Given the description of an element on the screen output the (x, y) to click on. 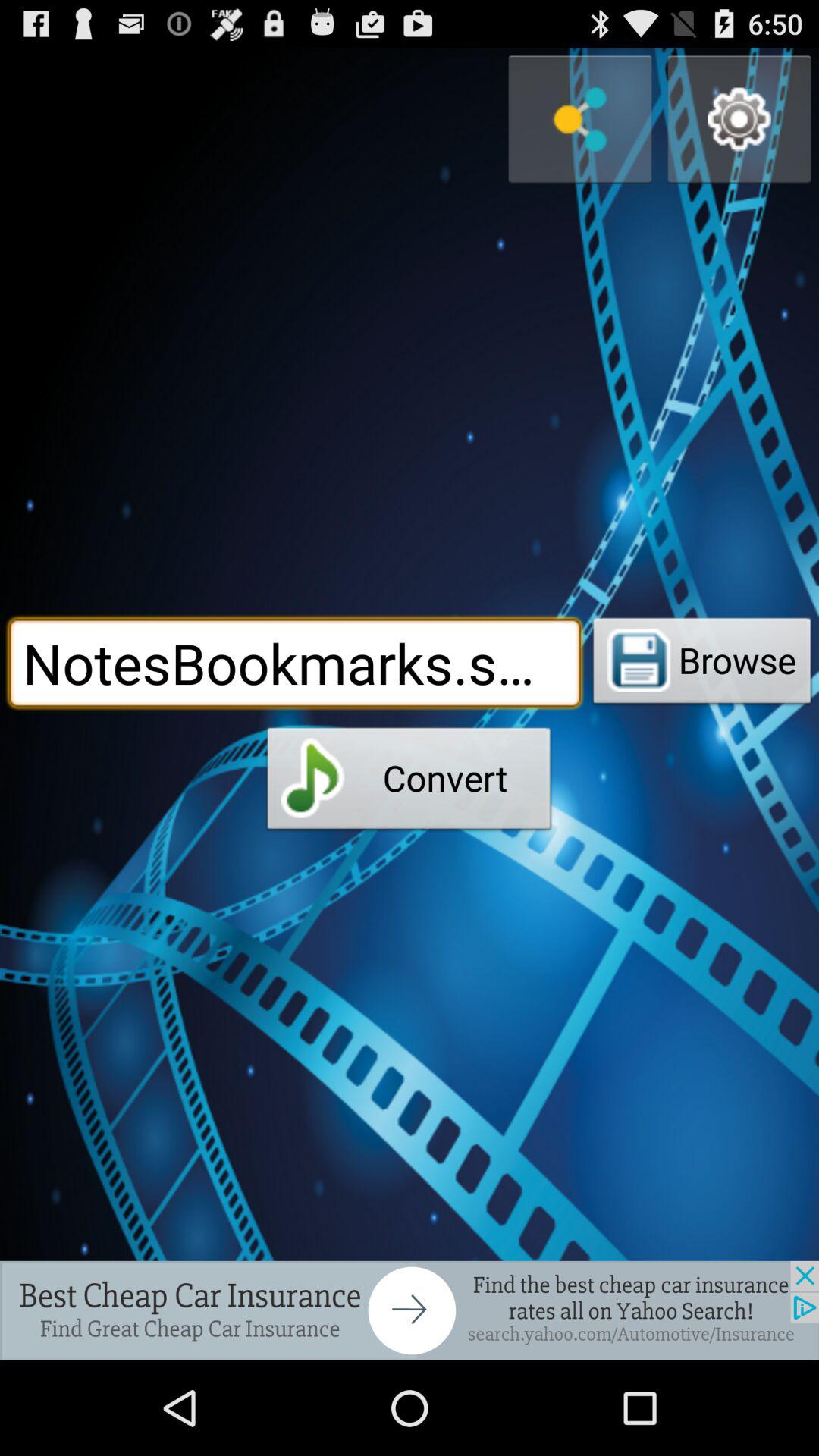
open settings menu (739, 119)
